Given the description of an element on the screen output the (x, y) to click on. 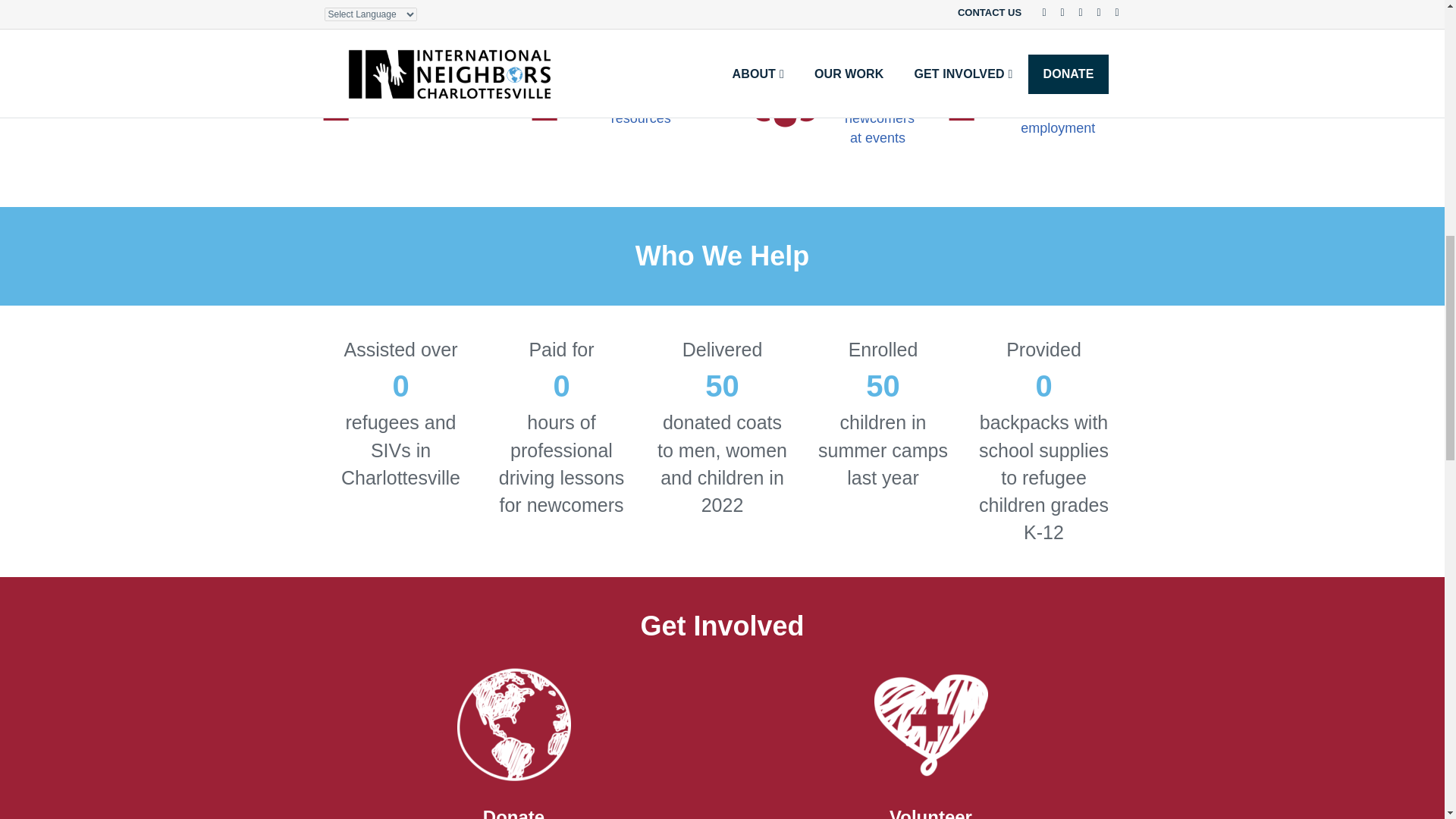
Help newcomers find security and redefine a sense of home (431, 87)
Volunteer (930, 812)
donate (513, 725)
Donate (513, 812)
volunteer (930, 725)
